Given the description of an element on the screen output the (x, y) to click on. 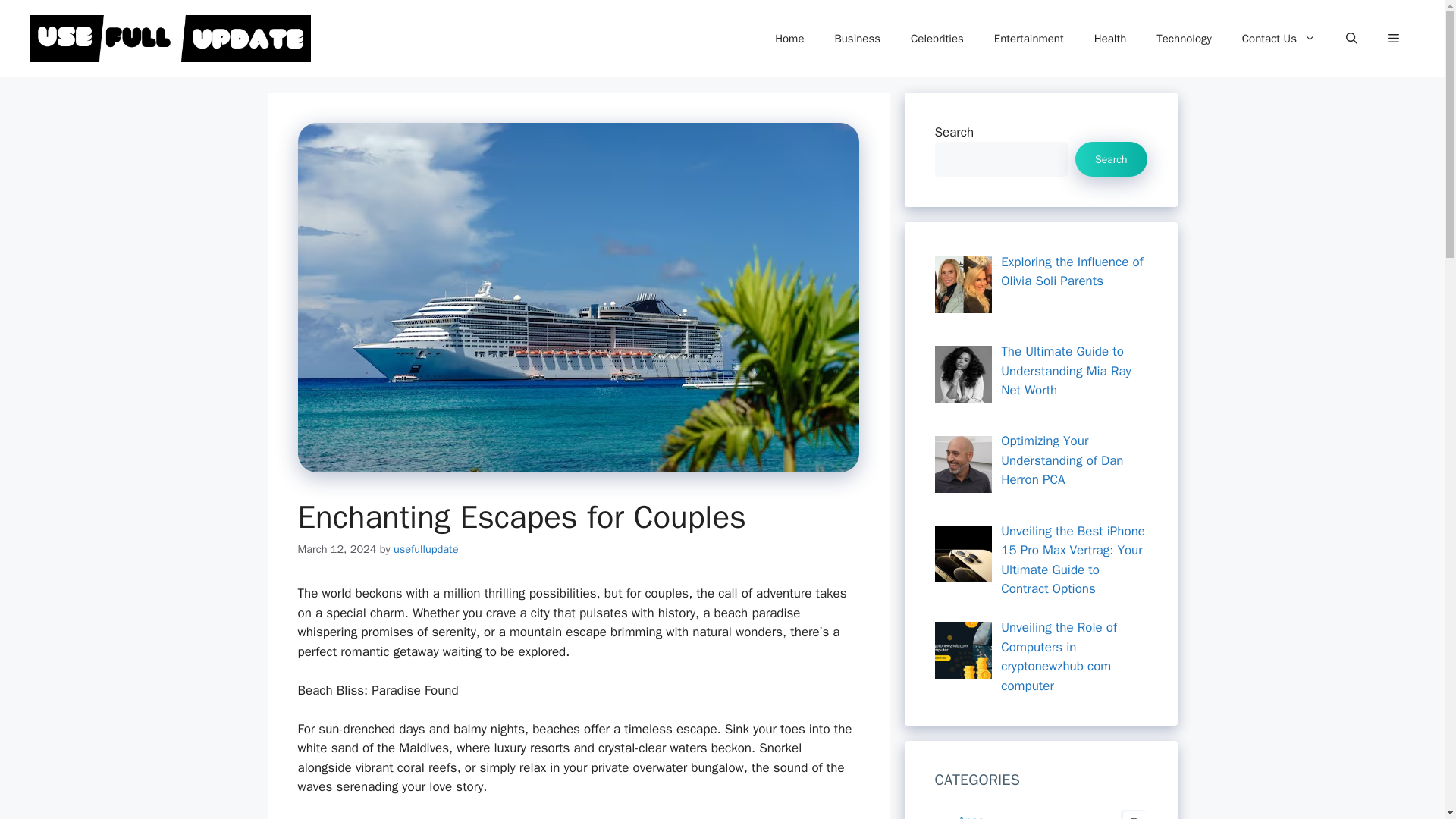
Home (789, 38)
Optimizing Your Understanding of Dan Herron PCA (962, 464)
Exploring the Influence of Olivia Soli Parents (962, 284)
usefullupdate (425, 549)
Business (856, 38)
Entertainment (1028, 38)
Contact Us (1278, 38)
The Ultimate Guide to Understanding Mia Ray Net Worth (1066, 370)
Technology (1184, 38)
